Given the description of an element on the screen output the (x, y) to click on. 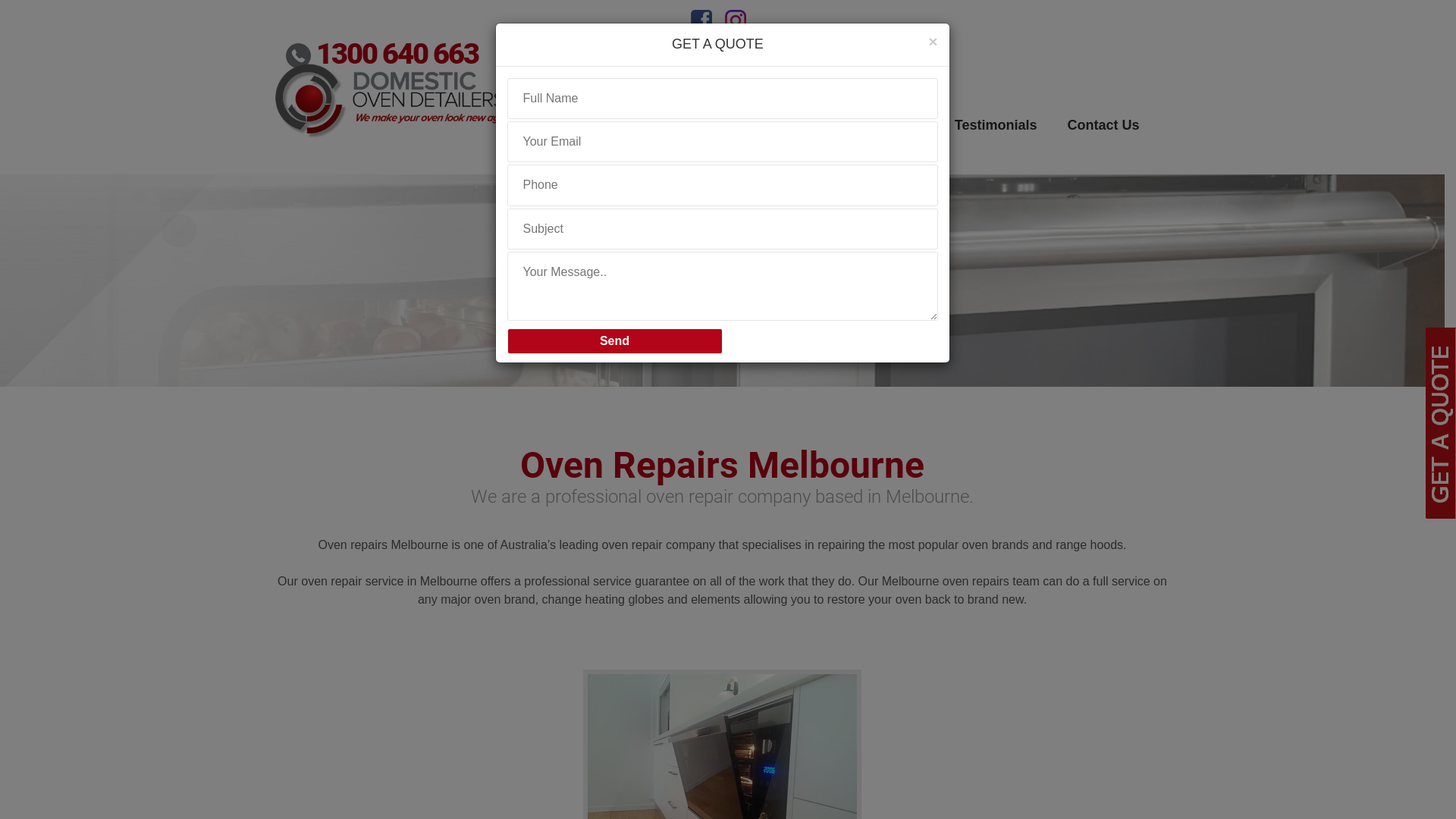
Prices Element type: text (903, 141)
Contact Us Element type: text (1102, 141)
Domestic Oven Detailers - Oven Cleaning Melbourne Element type: hover (391, 97)
About Element type: text (665, 141)
1300 640 663 Element type: text (381, 52)
Ovens Element type: text (743, 141)
BBQs Element type: text (827, 141)
Testimonials Element type: text (995, 141)
Send Element type: text (613, 341)
Home Element type: text (596, 141)
